Given the description of an element on the screen output the (x, y) to click on. 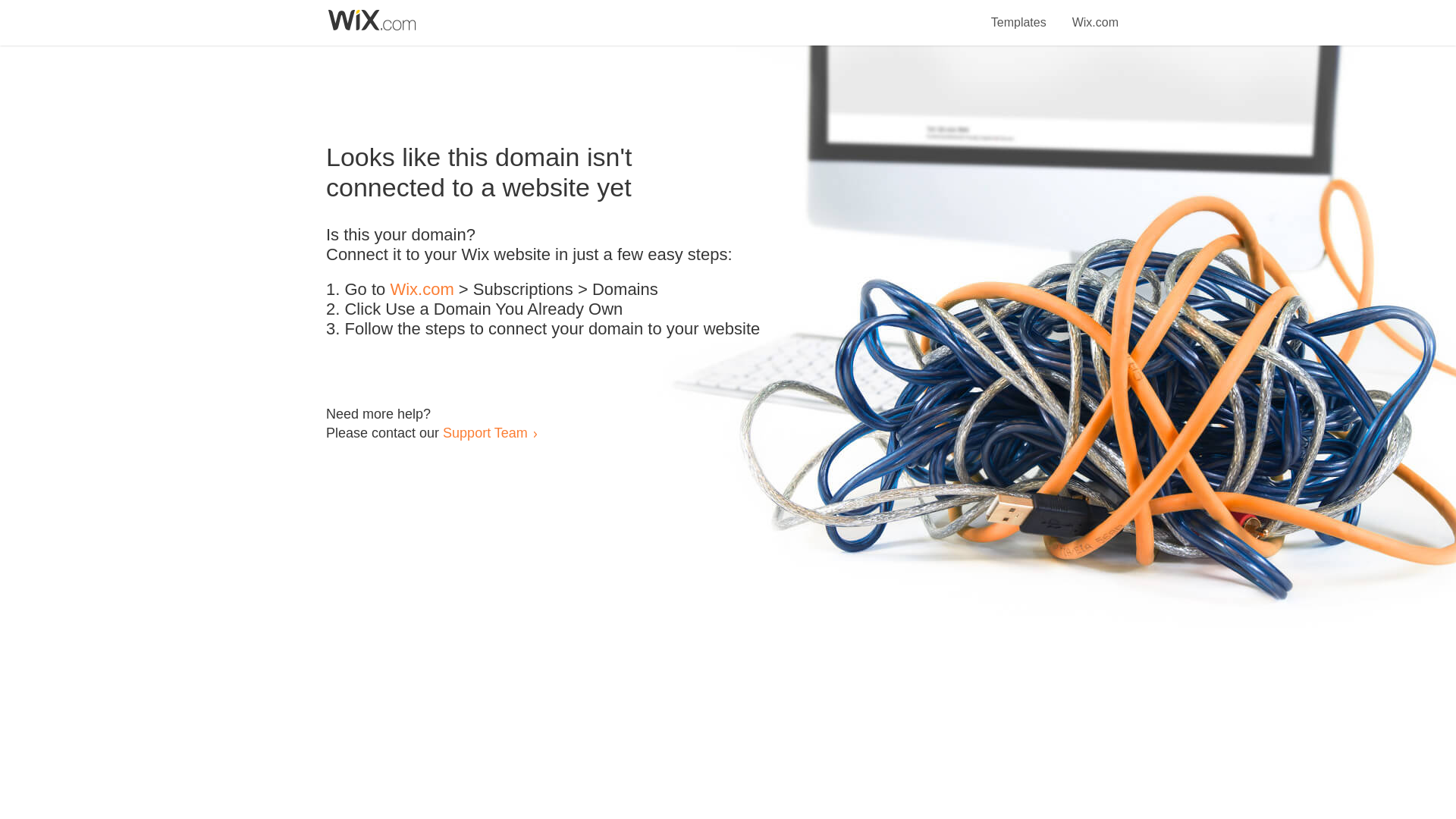
Templates (1018, 14)
Support Team (484, 432)
Wix.com (421, 289)
Wix.com (1095, 14)
